Given the description of an element on the screen output the (x, y) to click on. 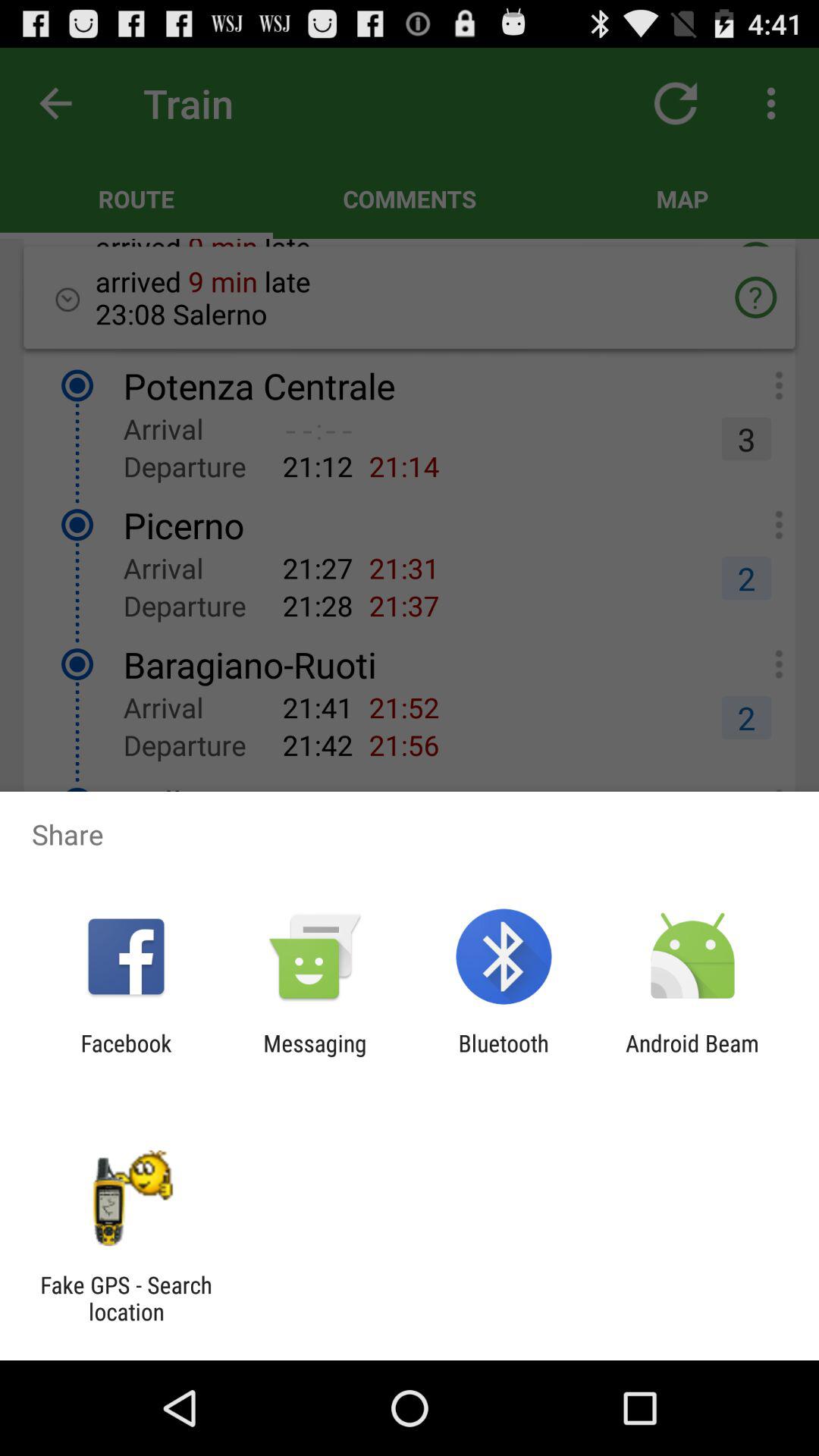
open the icon to the left of bluetooth icon (314, 1056)
